Given the description of an element on the screen output the (x, y) to click on. 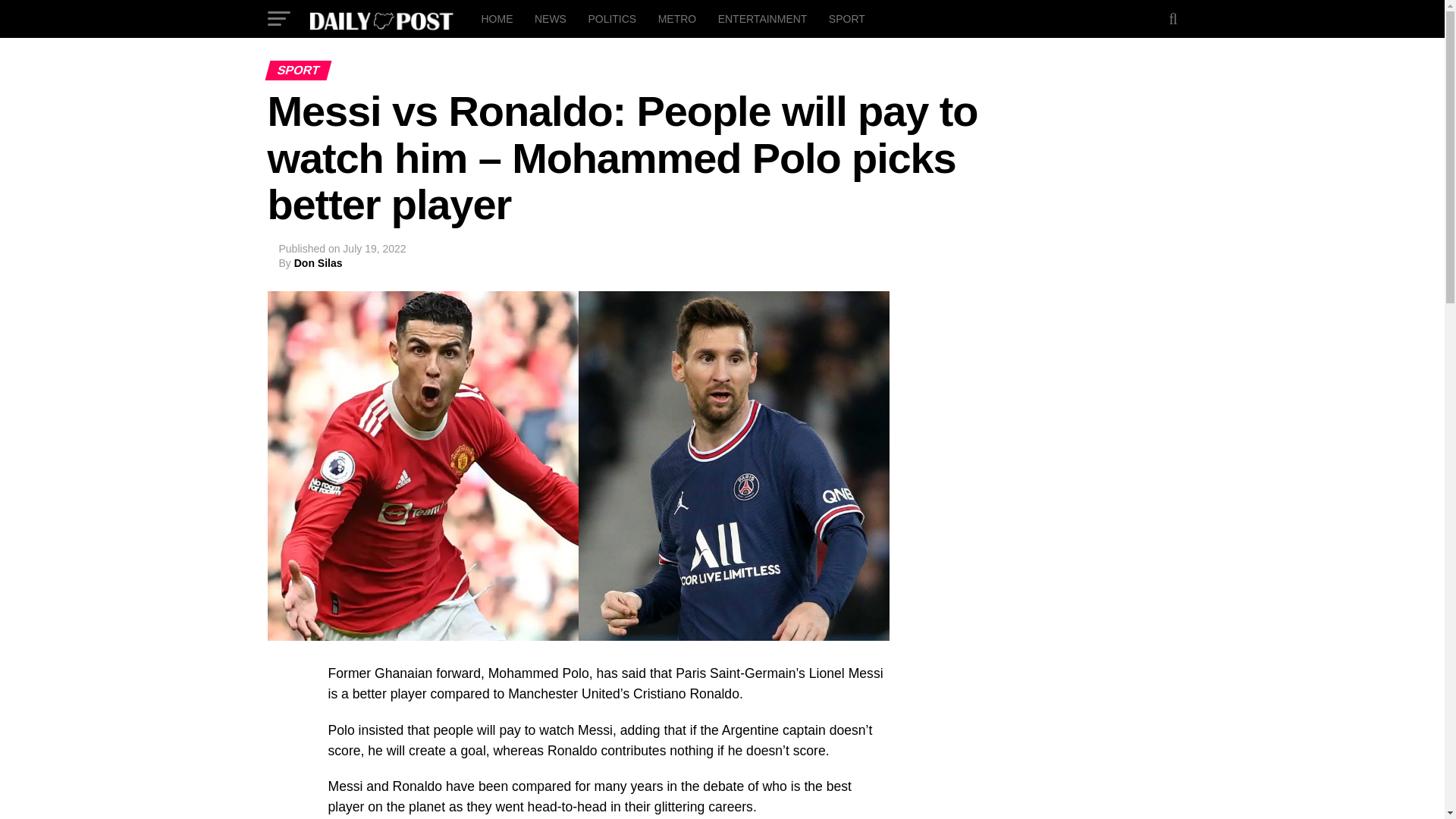
METRO (677, 18)
ENTERTAINMENT (762, 18)
Posts by Don Silas (318, 263)
HOME (496, 18)
SPORT (847, 18)
POLITICS (611, 18)
Don Silas (318, 263)
NEWS (550, 18)
